Given the description of an element on the screen output the (x, y) to click on. 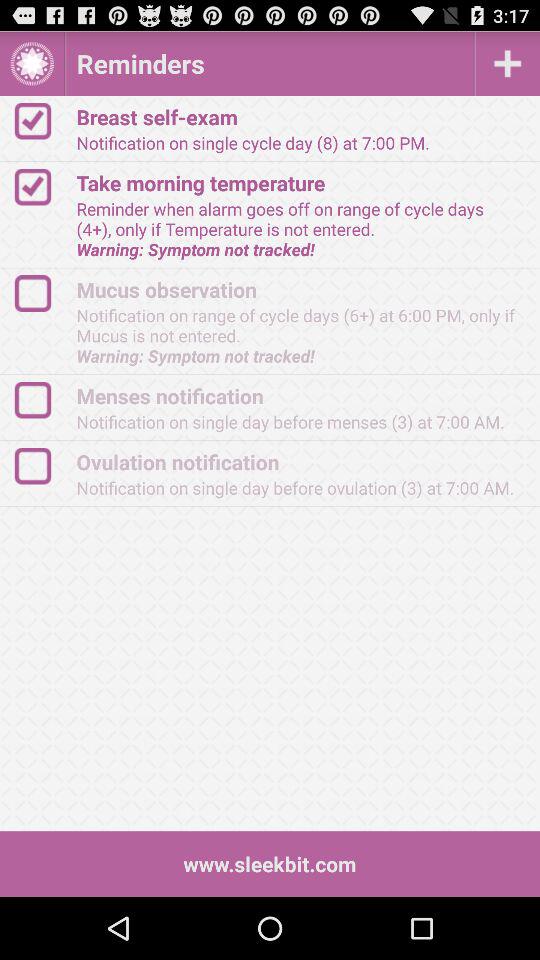
option to add (507, 63)
